Given the description of an element on the screen output the (x, y) to click on. 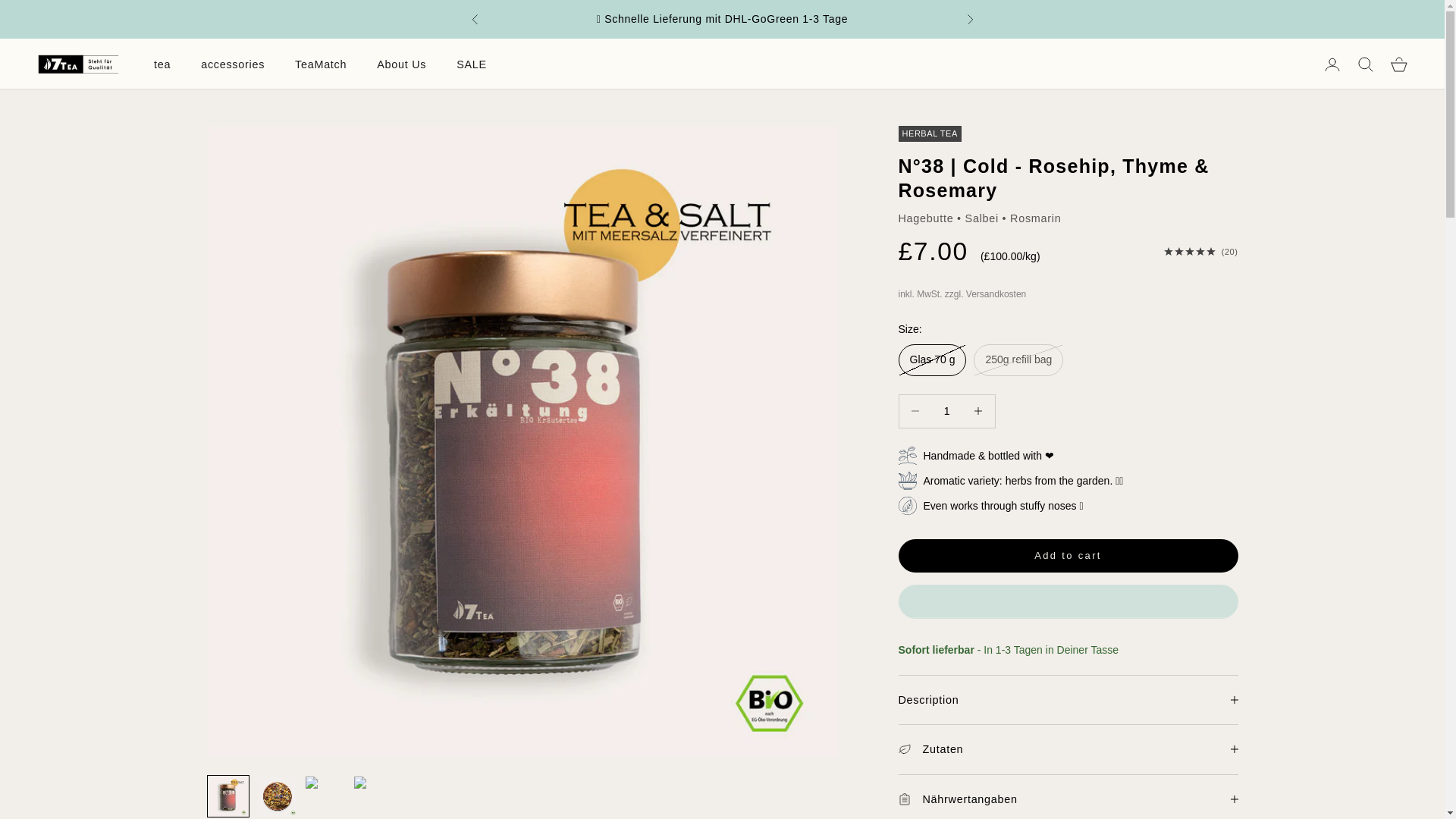
1 (946, 410)
20 reviews (1201, 251)
TeaMatch (320, 64)
SALE (471, 64)
Open cart (1398, 64)
Open search (1365, 64)
Open account page (1331, 64)
